Given the description of an element on the screen output the (x, y) to click on. 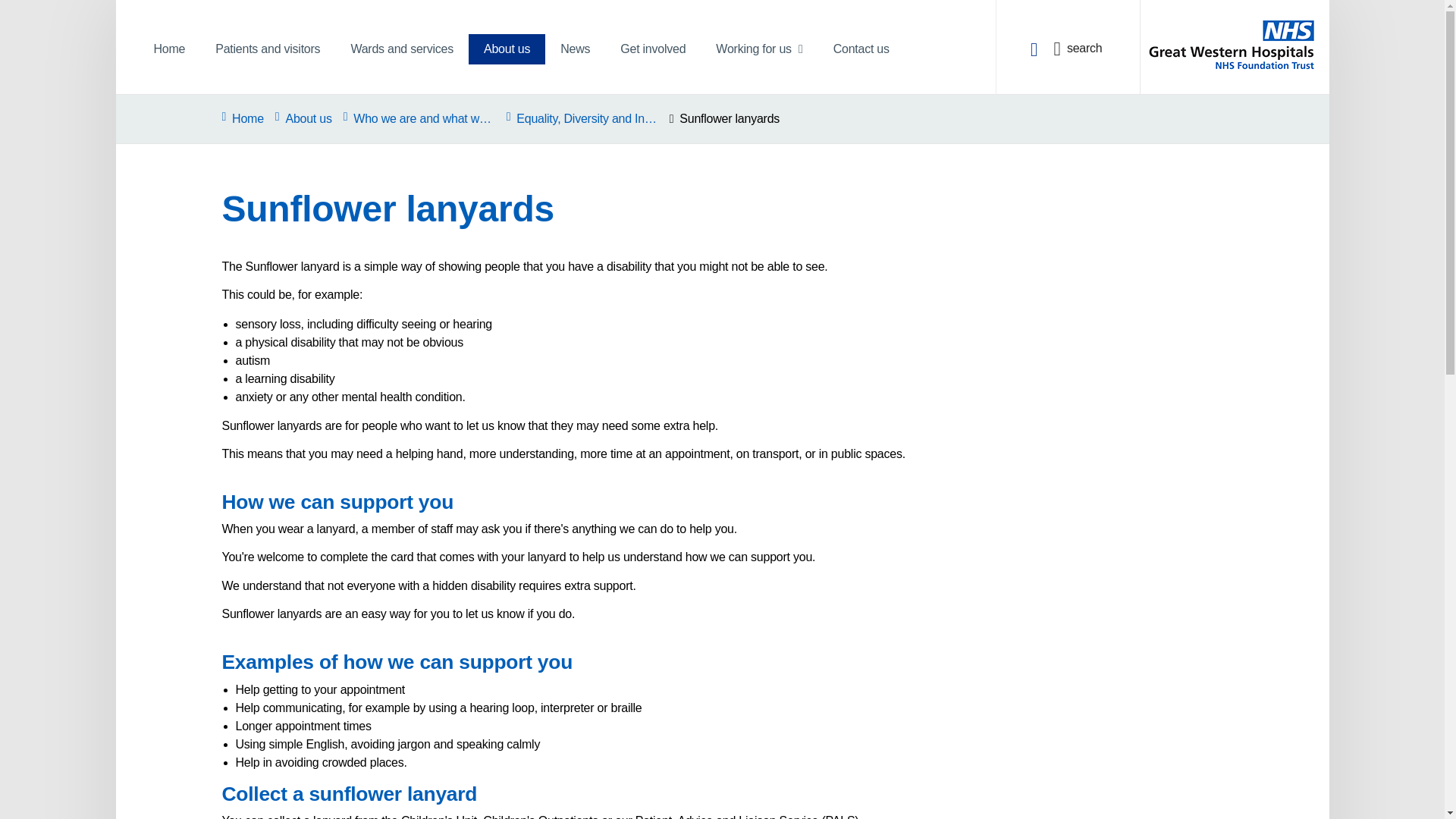
About us (506, 49)
News (574, 49)
Great Western Hospital logo (1232, 38)
Who we are and what we do (419, 118)
Equality, Diversity and Inclusion (582, 118)
Get involved (652, 49)
Skip to main content (17, 13)
Home (169, 49)
Home (242, 118)
Contact us (861, 49)
About us (303, 118)
Patients and visitors (267, 49)
Wards and services (401, 49)
Working for us (758, 49)
